Given the description of an element on the screen output the (x, y) to click on. 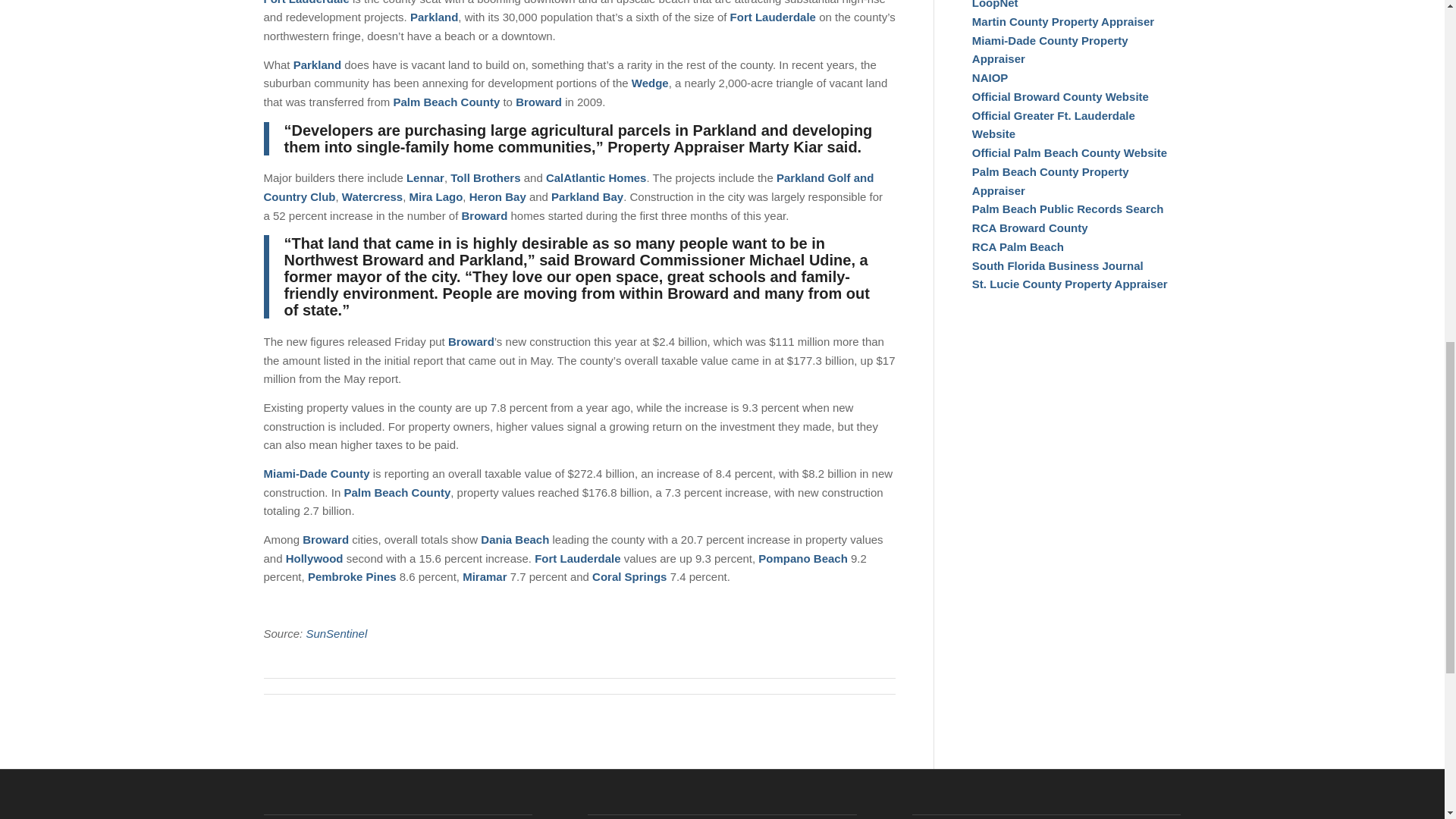
Martin County Property Appraiser (1063, 21)
SunSentinel (335, 633)
Miami-Dade County Property Appraiser (1050, 50)
LoopNet (994, 4)
